Given the description of an element on the screen output the (x, y) to click on. 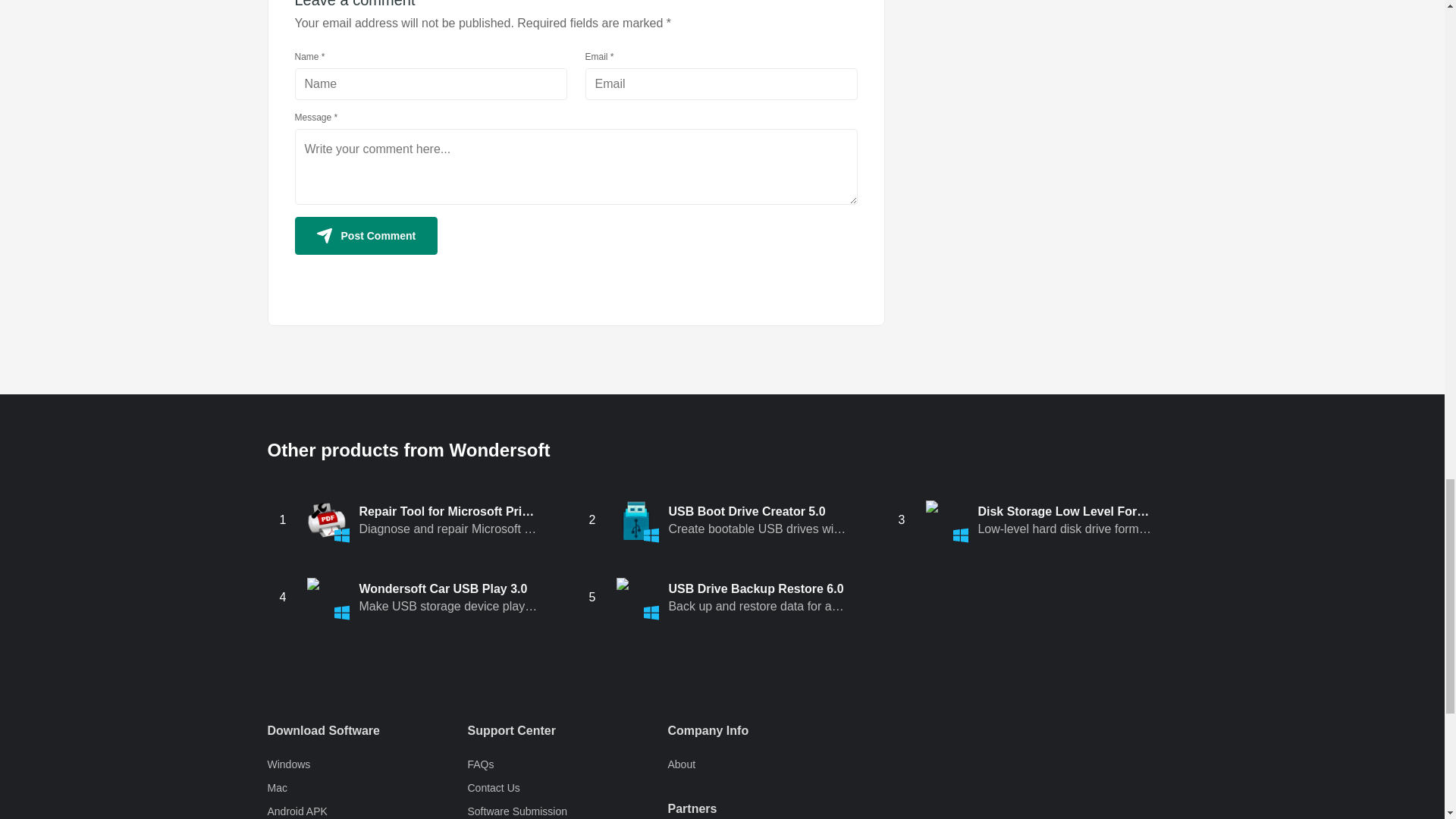
Post Comment (366, 235)
